Given the description of an element on the screen output the (x, y) to click on. 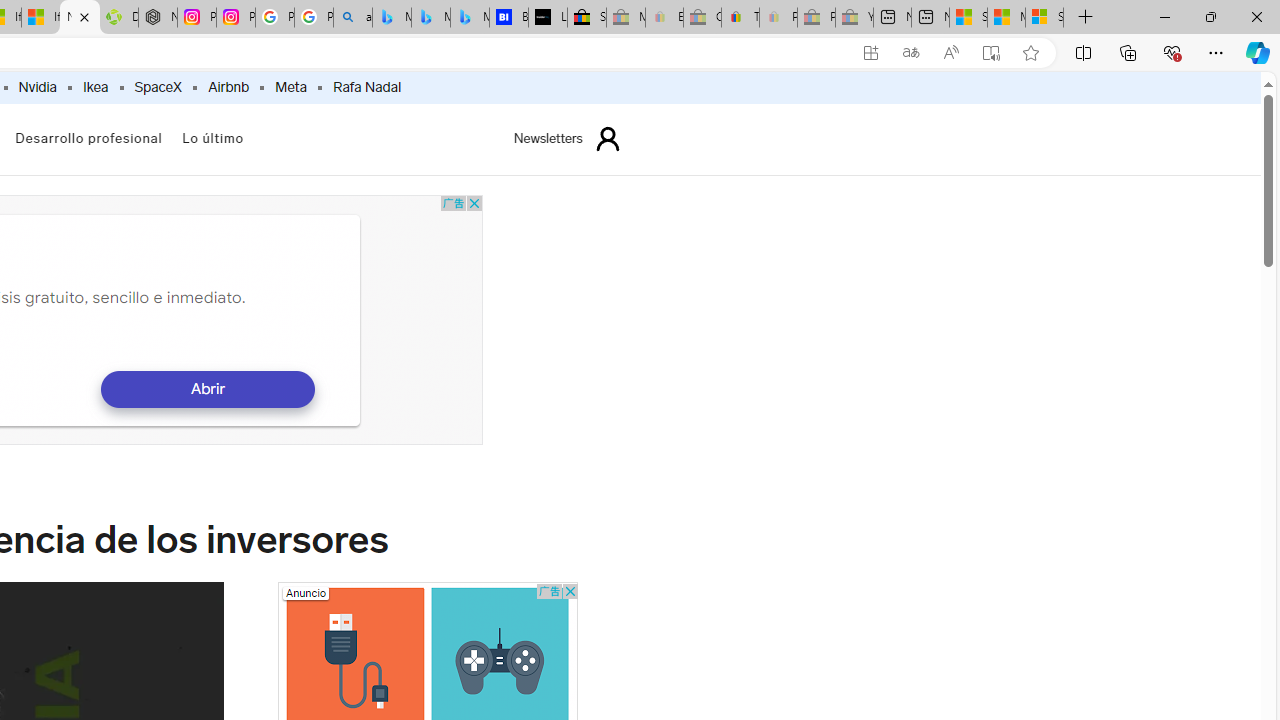
Yard, Garden & Outdoor Living - Sleeping (853, 17)
Airbnb (228, 88)
Microsoft Bing Travel - Shangri-La Hotel Bangkok (469, 17)
Nvidia (37, 88)
Abrir (206, 389)
Ikea (95, 88)
Microsoft Bing Travel - Flights from Hong Kong to Bangkok (391, 17)
Meta (290, 88)
